Given the description of an element on the screen output the (x, y) to click on. 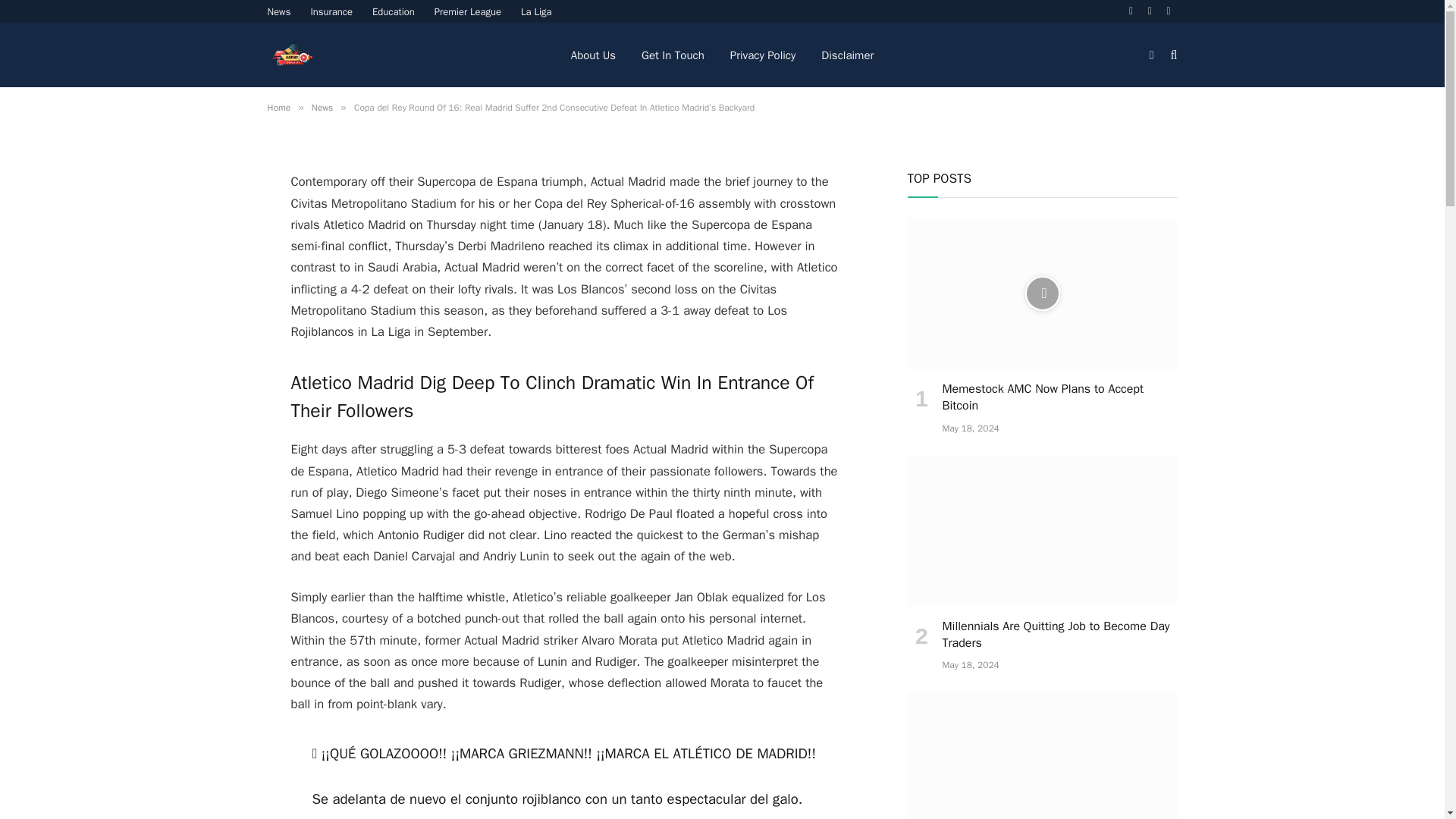
La Liga (536, 11)
News (279, 11)
Disclaimer (847, 54)
Home (277, 107)
Insurance (330, 11)
About Us (592, 54)
Switch to Dark Design - easier on eyes. (1151, 54)
Privacy Policy (763, 54)
Education (393, 11)
Get In Touch (672, 54)
